Given the description of an element on the screen output the (x, y) to click on. 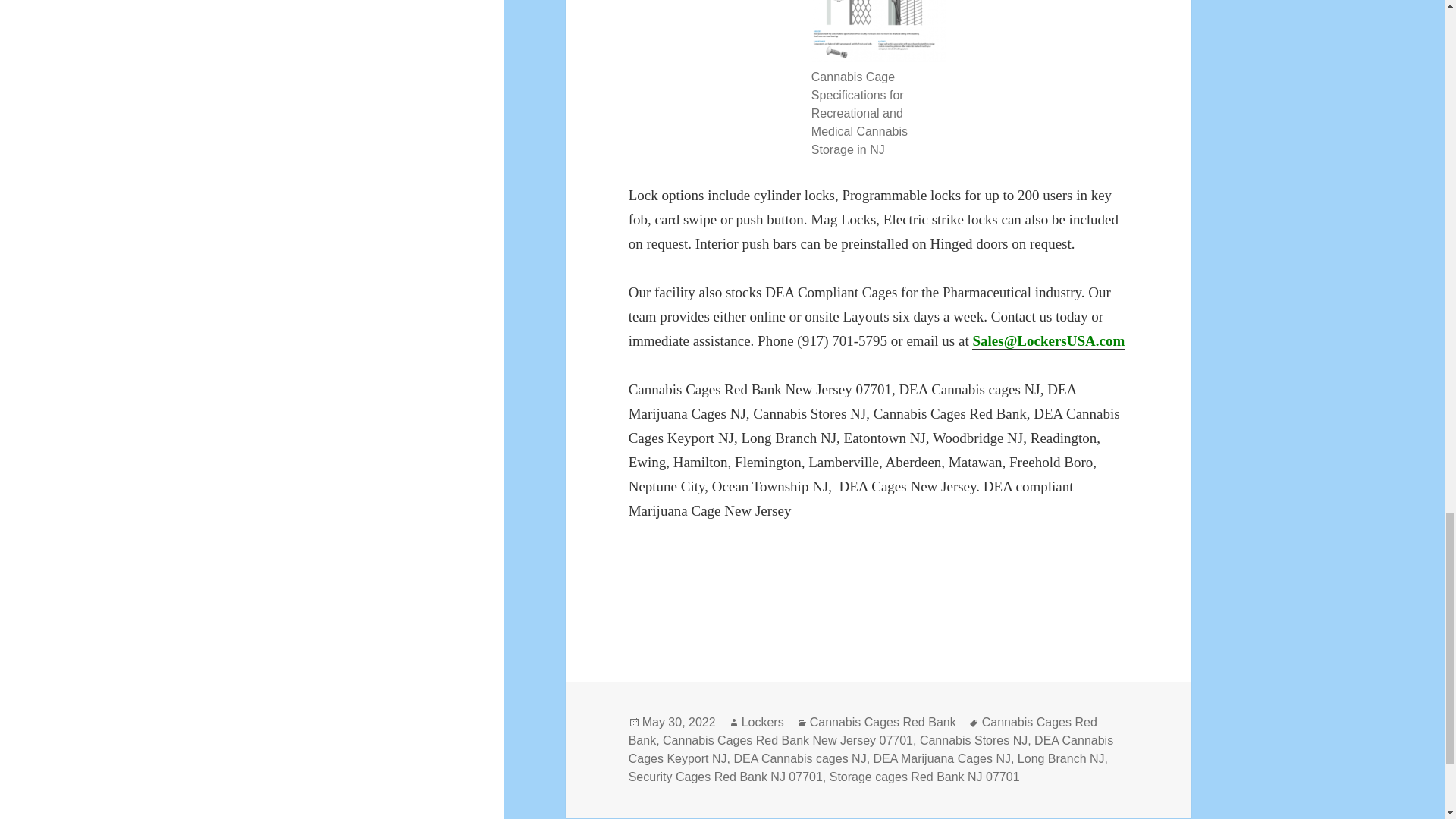
DEA Cannabis cages NJ (799, 758)
Security Cages Red Bank NJ 07701 (725, 776)
May 30, 2022 (679, 722)
Cannabis Stores NJ (973, 740)
Long Branch NJ (1061, 758)
DEA Marijuana Cages NJ (941, 758)
Cannabis Cages Red Bank New Jersey 07701 (787, 740)
DEA Cannabis Cages Keyport NJ (870, 749)
Cannabis Cages Red Bank (882, 722)
Cannabis Cages Red Bank (862, 731)
Lockers (762, 722)
